Given the description of an element on the screen output the (x, y) to click on. 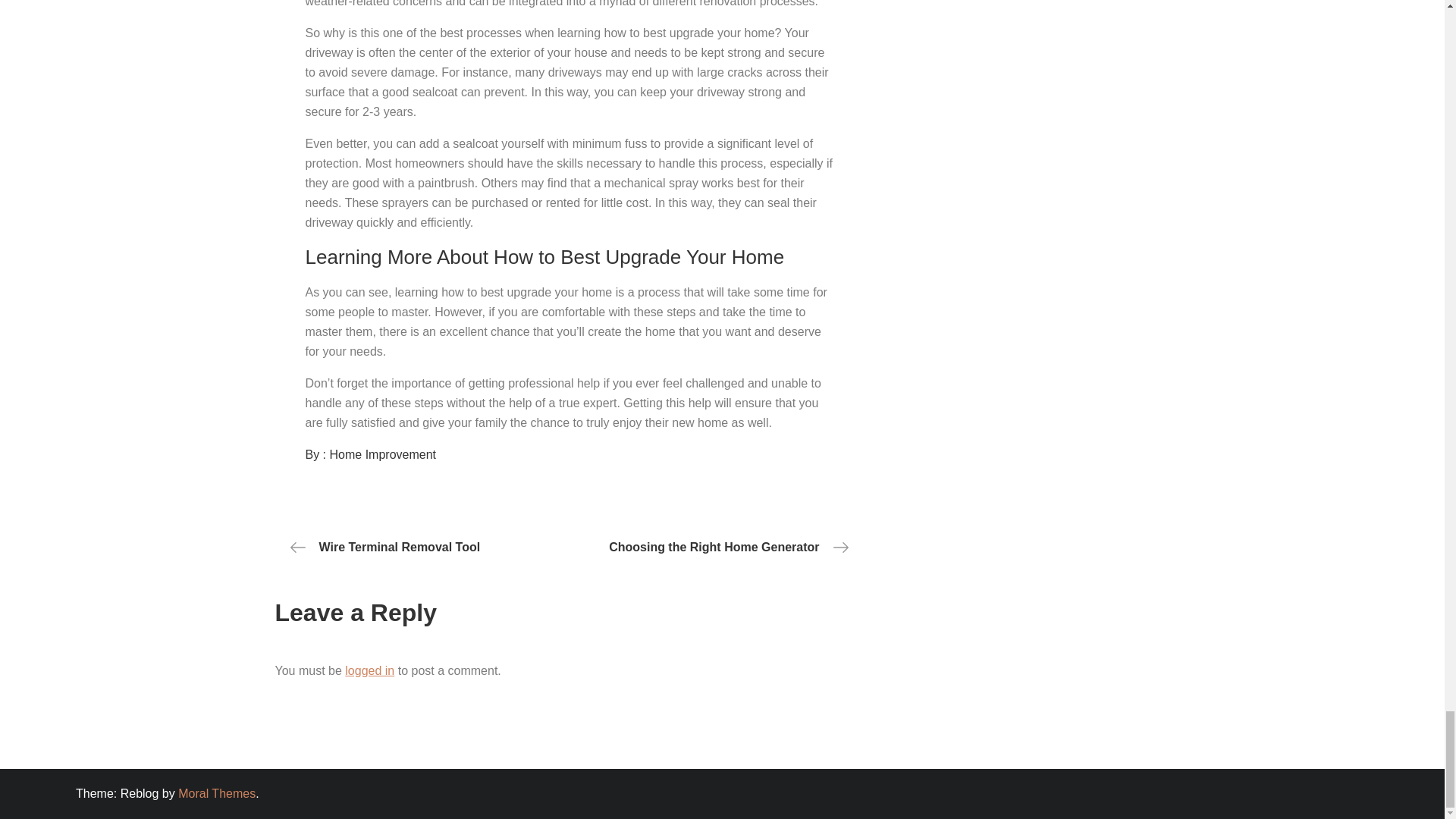
Moral Themes (216, 793)
Home Improvement (383, 454)
logged in (369, 670)
